Given the description of an element on the screen output the (x, y) to click on. 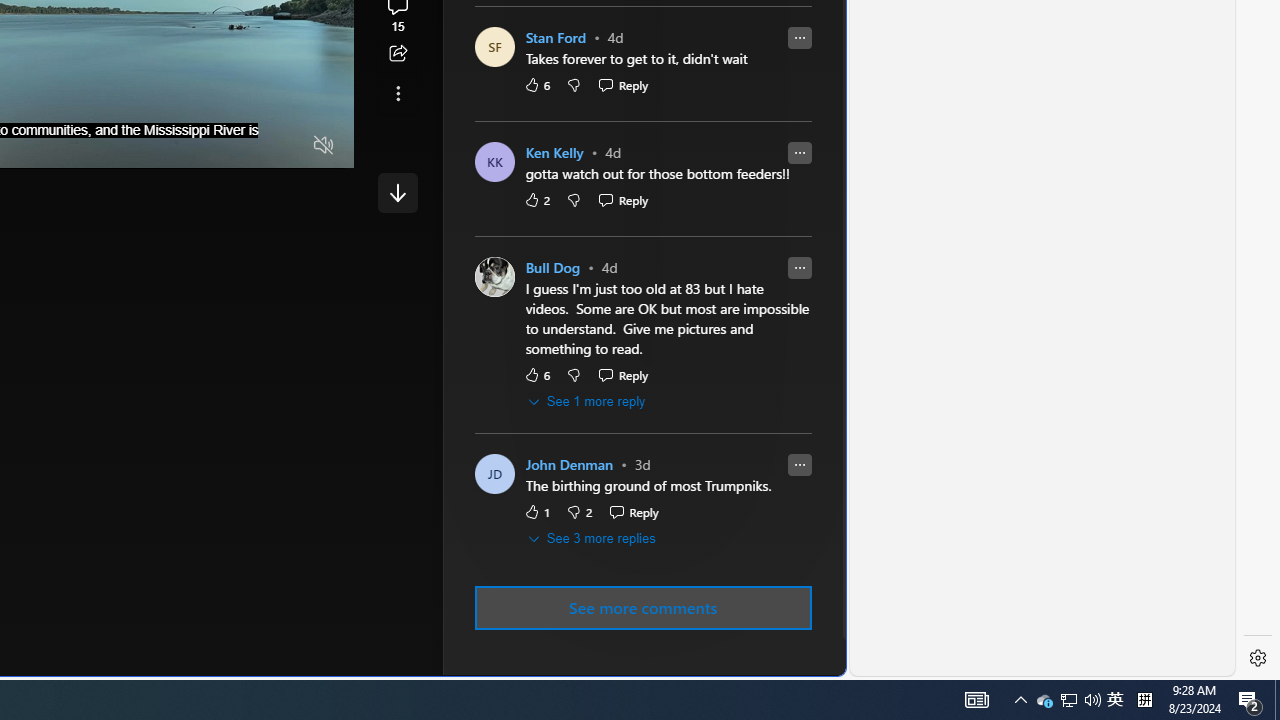
Reply Reply Comment (633, 511)
Share this story (397, 53)
Profile Picture (493, 277)
Report comment (799, 465)
Class: at-item detail-page (397, 93)
Captions (246, 146)
See more comments (642, 607)
